Given the description of an element on the screen output the (x, y) to click on. 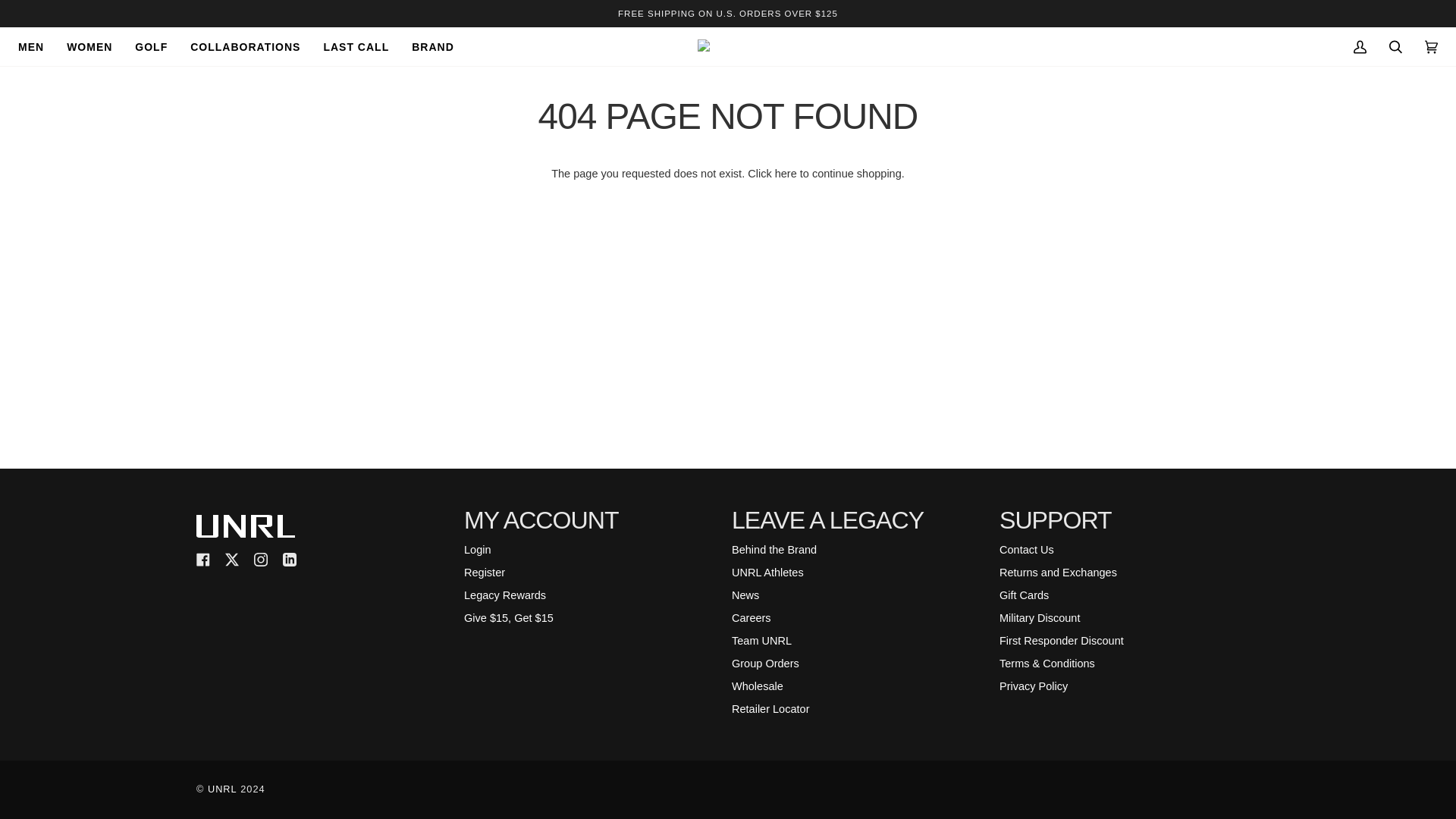
Instagram (260, 559)
Linkedin (289, 559)
WOMEN (89, 46)
Facebook (202, 559)
MEN (36, 46)
Twitter (231, 559)
